Given the description of an element on the screen output the (x, y) to click on. 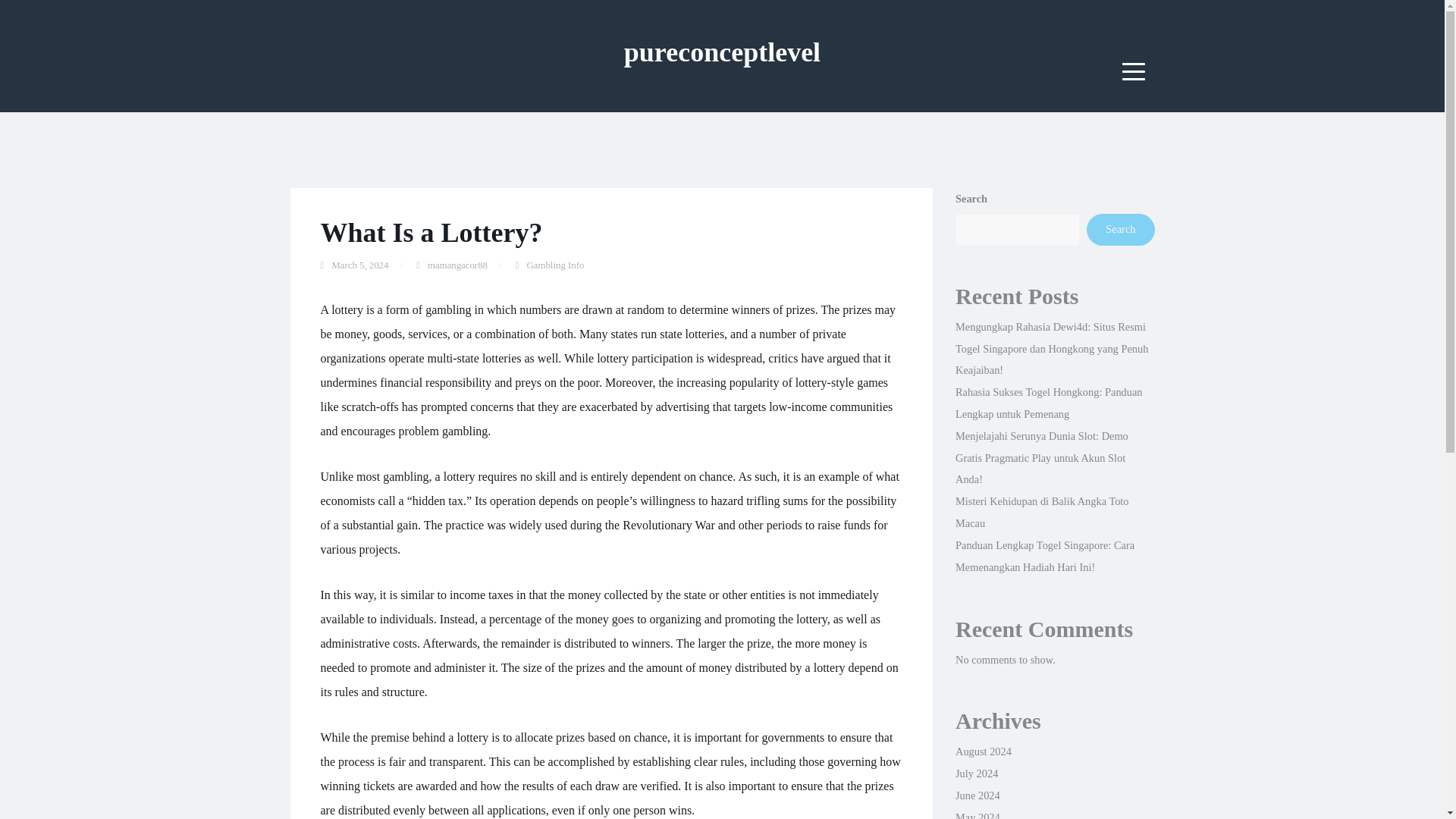
mamangacor88 (457, 265)
July 2024 (976, 773)
pureconceptlevel (722, 51)
Menu (1133, 71)
May 2024 (977, 815)
Search (1120, 229)
June 2024 (977, 795)
